Given the description of an element on the screen output the (x, y) to click on. 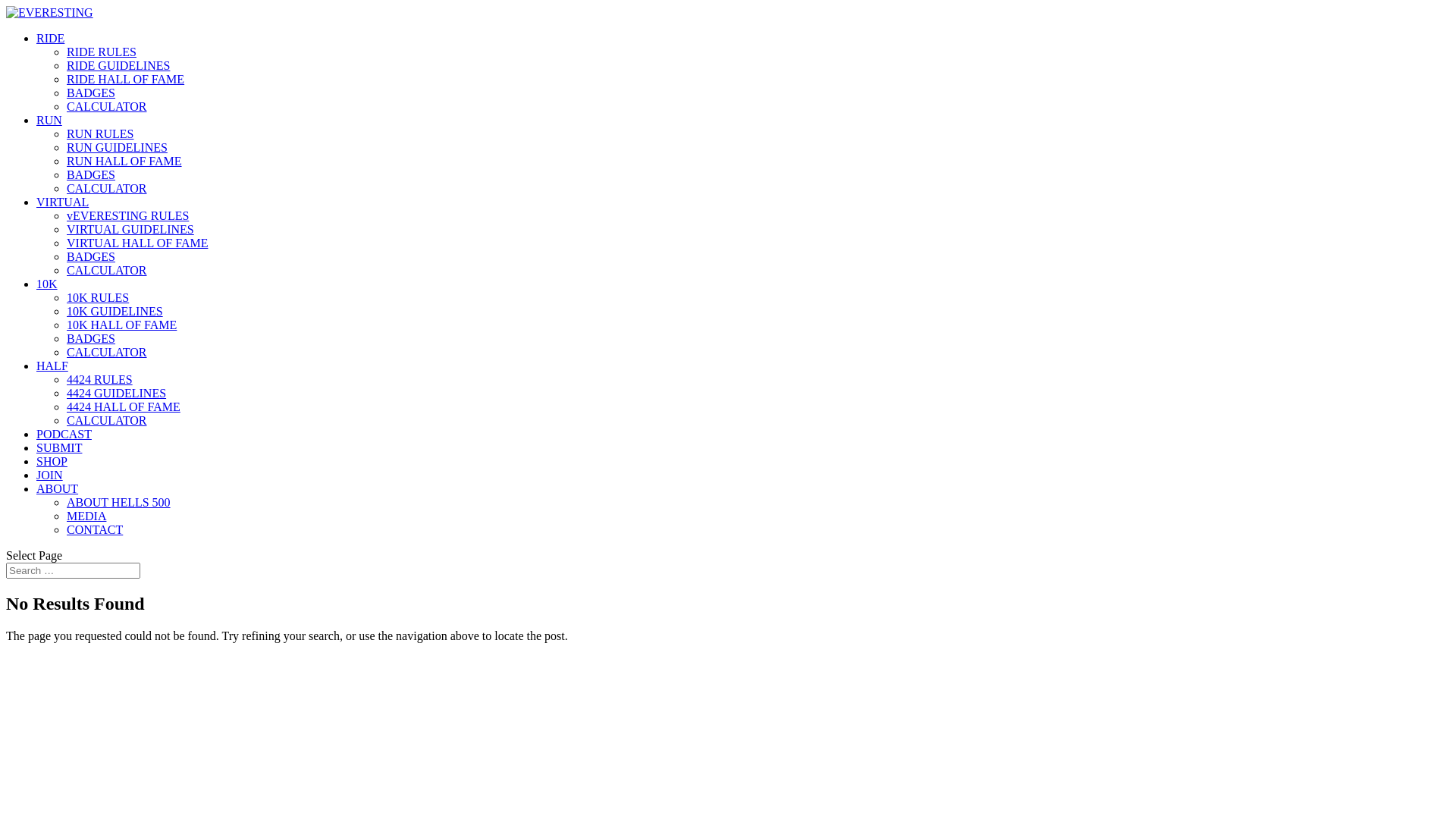
CALCULATOR Element type: text (106, 106)
ABOUT Element type: text (57, 488)
SHOP Element type: text (51, 461)
RIDE Element type: text (50, 37)
CONTACT Element type: text (94, 529)
VIRTUAL Element type: text (62, 201)
RIDE HALL OF FAME Element type: text (125, 78)
BADGES Element type: text (90, 92)
4424 HALL OF FAME Element type: text (123, 406)
RIDE RULES Element type: text (101, 51)
VIRTUAL GUIDELINES Element type: text (130, 228)
RUN RULES Element type: text (99, 133)
10K GUIDELINES Element type: text (114, 310)
CALCULATOR Element type: text (106, 351)
ABOUT HELLS 500 Element type: text (118, 501)
CALCULATOR Element type: text (106, 420)
VIRTUAL HALL OF FAME Element type: text (136, 242)
10K Element type: text (46, 283)
10K RULES Element type: text (97, 297)
BADGES Element type: text (90, 338)
CALCULATOR Element type: text (106, 269)
4424 RULES Element type: text (99, 379)
vEVERESTING RULES Element type: text (127, 215)
SUBMIT Element type: text (58, 447)
MEDIA Element type: text (86, 515)
RUN Element type: text (49, 119)
4424 GUIDELINES Element type: text (116, 392)
BADGES Element type: text (90, 256)
JOIN Element type: text (49, 474)
Search for: Element type: hover (73, 570)
BADGES Element type: text (90, 174)
CALCULATOR Element type: text (106, 188)
HALF Element type: text (52, 365)
RUN GUIDELINES Element type: text (116, 147)
RUN HALL OF FAME Element type: text (124, 160)
PODCAST Element type: text (63, 433)
RIDE GUIDELINES Element type: text (117, 65)
10K HALL OF FAME Element type: text (121, 324)
